Given the description of an element on the screen output the (x, y) to click on. 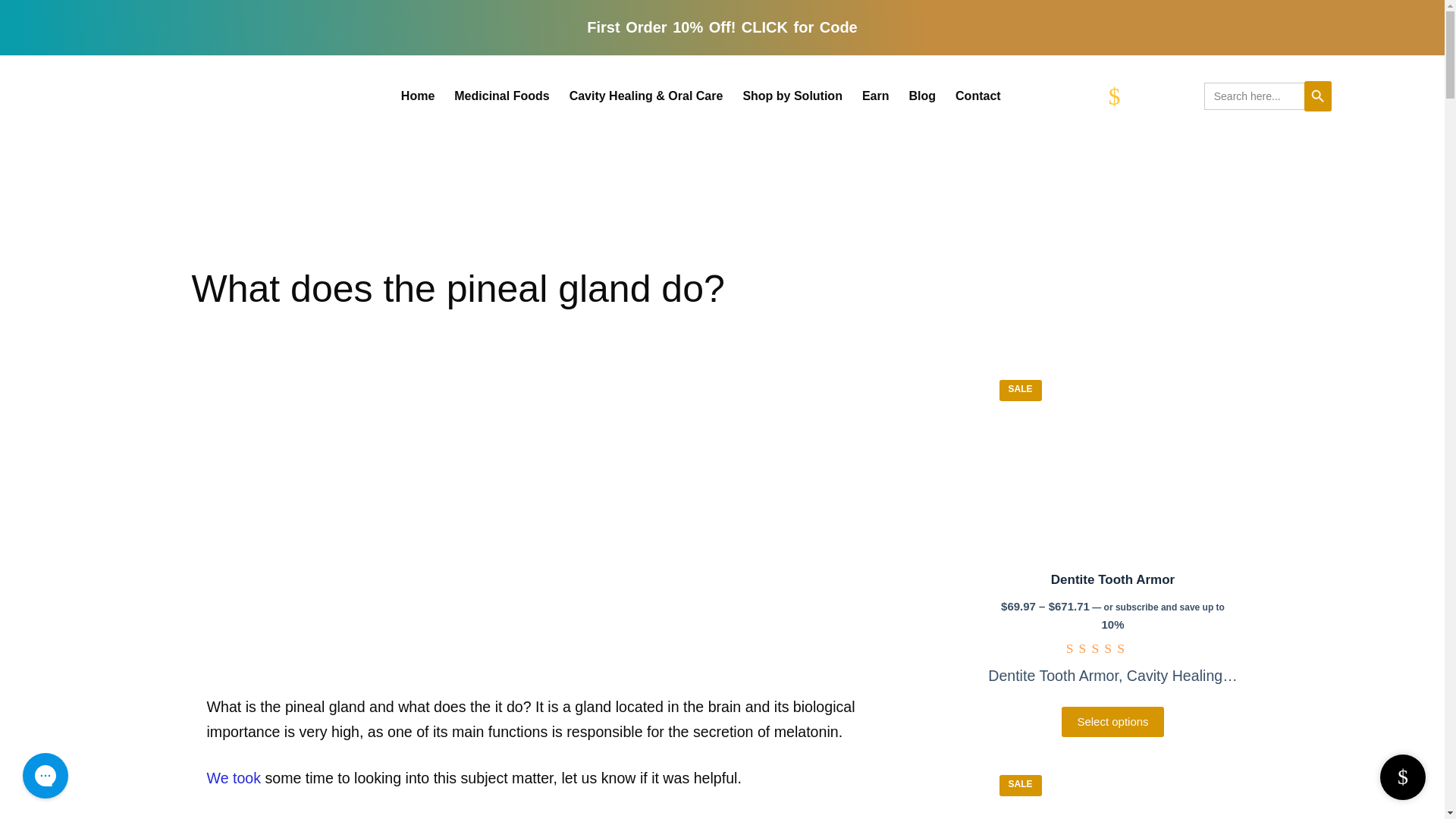
Shop by Solution (791, 96)
Medicinal Foods (501, 96)
Cart (1156, 96)
Skip to content (15, 7)
Dentite (1112, 462)
Coffee Break - Mushroom Coffee Substitute (1112, 791)
Search Button (1318, 96)
Earn (875, 96)
Blog (922, 96)
Contact (977, 96)
